Given the description of an element on the screen output the (x, y) to click on. 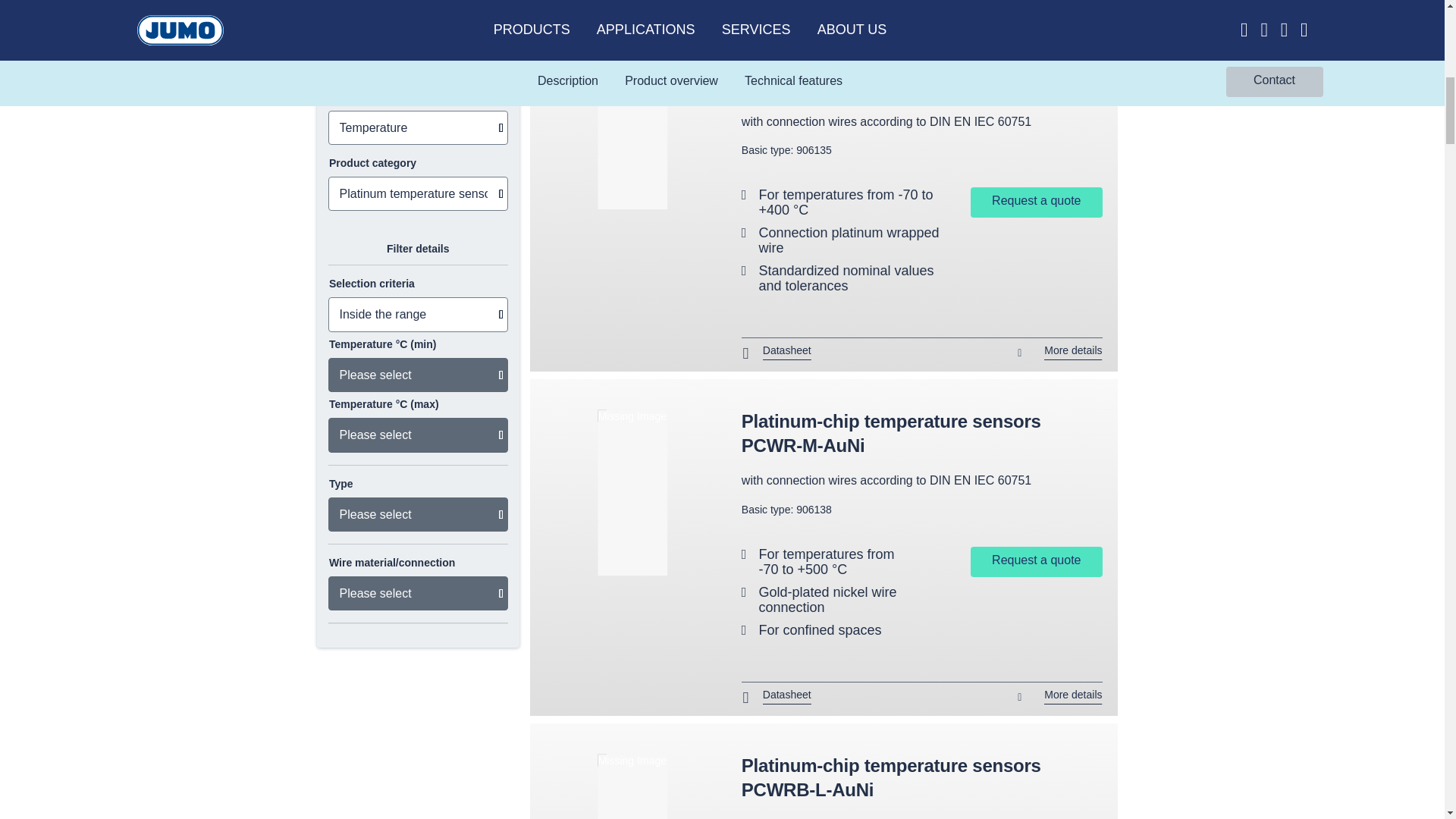
Relevance (1049, 3)
10 (890, 3)
Temperature (417, 127)
